Given the description of an element on the screen output the (x, y) to click on. 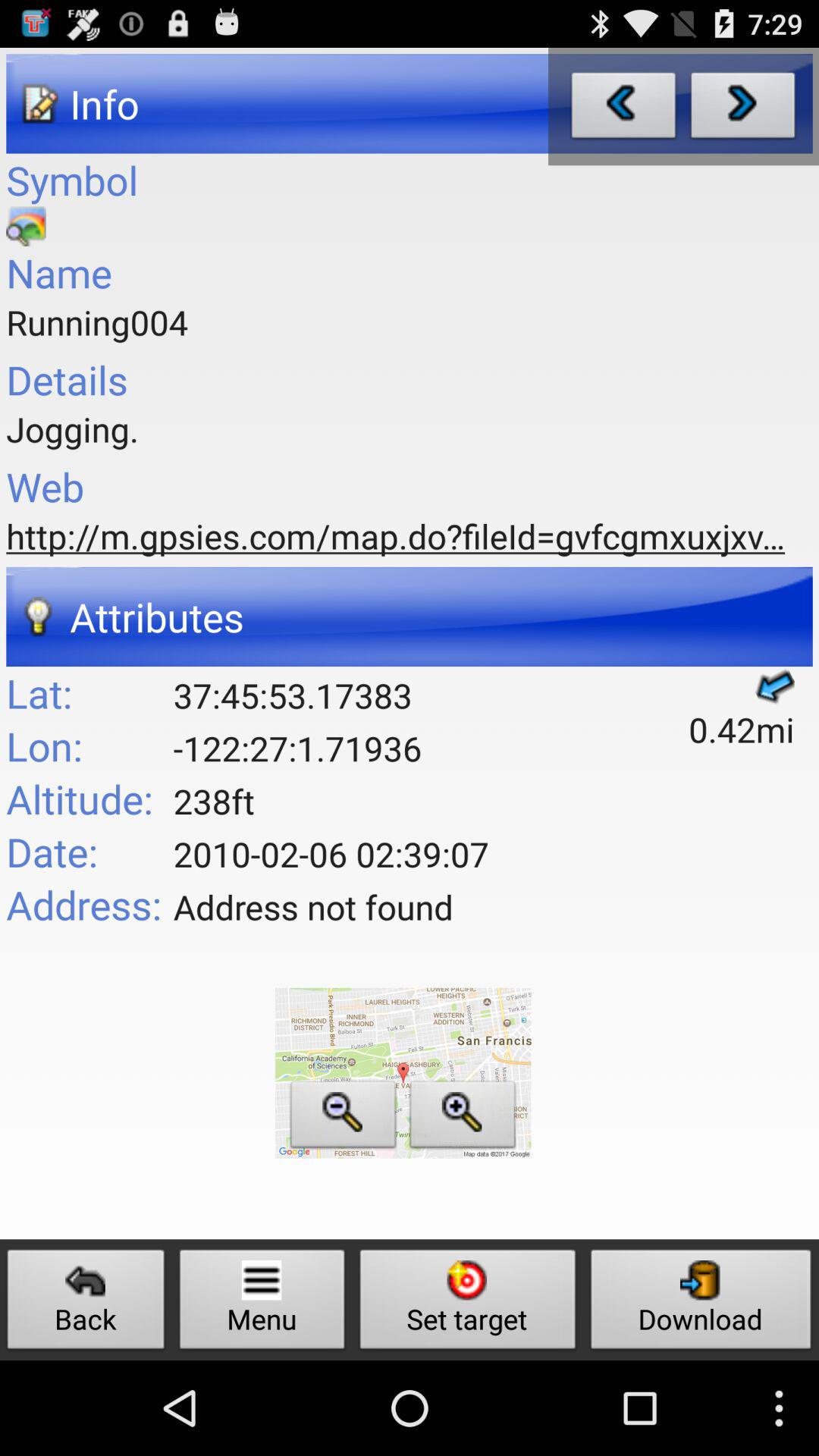
turn on button next to the back button (262, 1303)
